Given the description of an element on the screen output the (x, y) to click on. 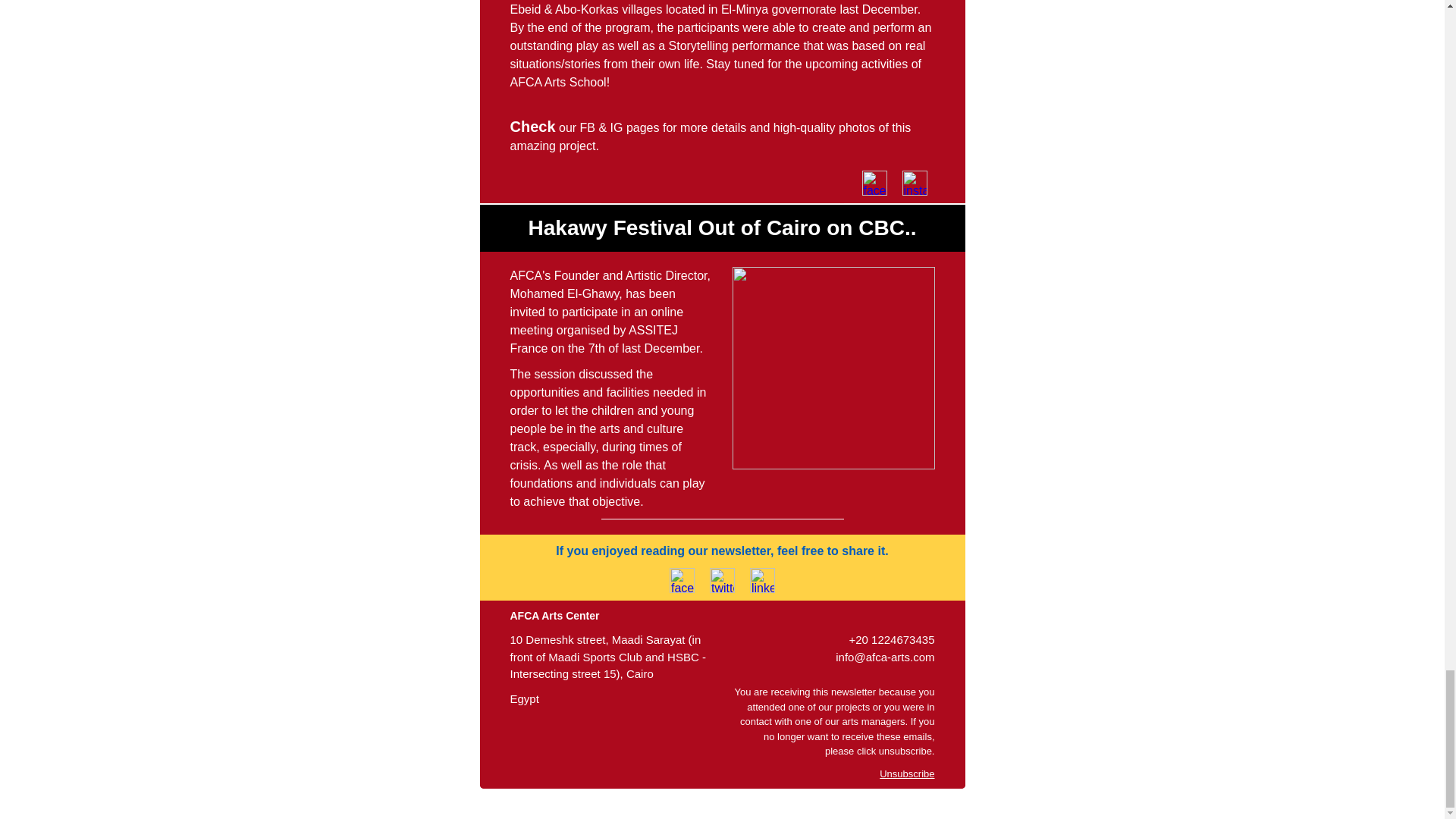
Unsubscribe (906, 772)
